Given the description of an element on the screen output the (x, y) to click on. 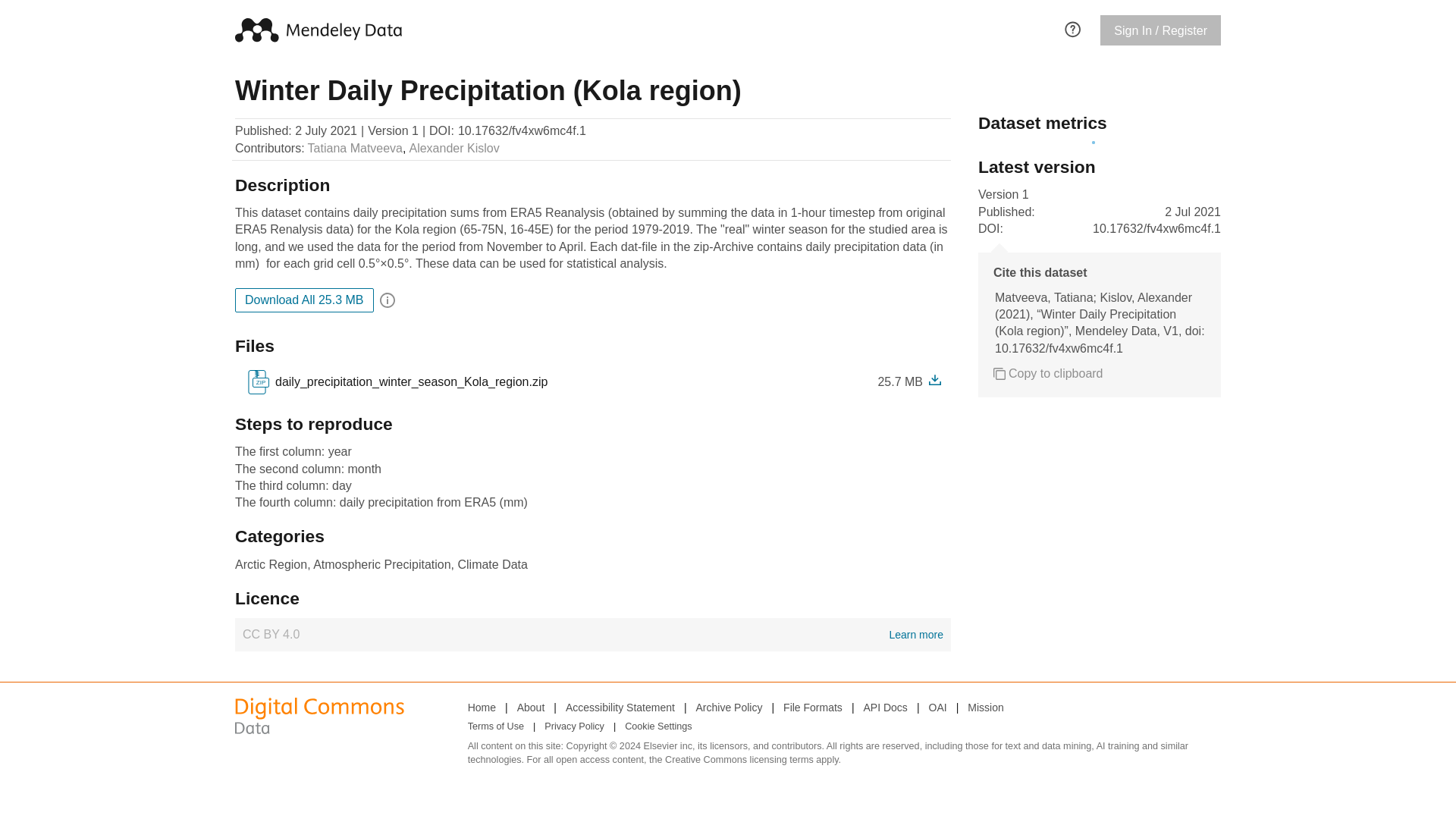
Home (481, 707)
File Formats (813, 707)
FAQ (1072, 27)
Mission (592, 634)
Terms of Use (985, 707)
Download All 25.3 MB (495, 727)
Alexander Kislov (304, 300)
Privacy Policy (454, 148)
API Docs (574, 727)
